Given the description of an element on the screen output the (x, y) to click on. 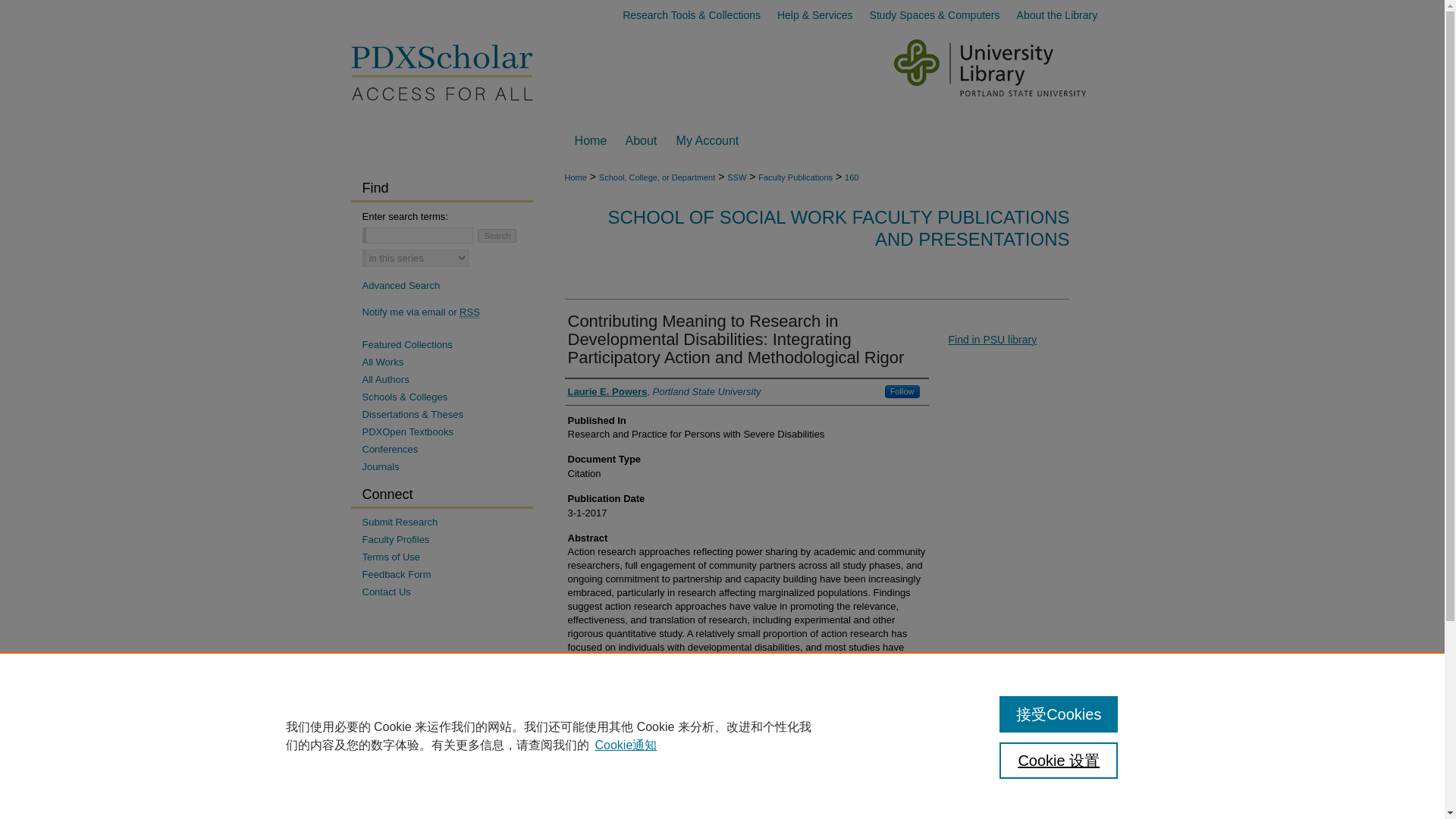
Search (496, 235)
SSW (735, 176)
Advanced Search (401, 285)
Faculty Publications (795, 176)
Find in PSU library (991, 339)
My Account (708, 140)
OpenURL (991, 339)
Featured Collections (447, 344)
Laurie E. Powers, Portland State University (663, 391)
Home (589, 140)
160 (851, 176)
Follow Laurie E. Powers (902, 391)
About the Library (1057, 15)
Home (589, 140)
My Account (708, 140)
